Given the description of an element on the screen output the (x, y) to click on. 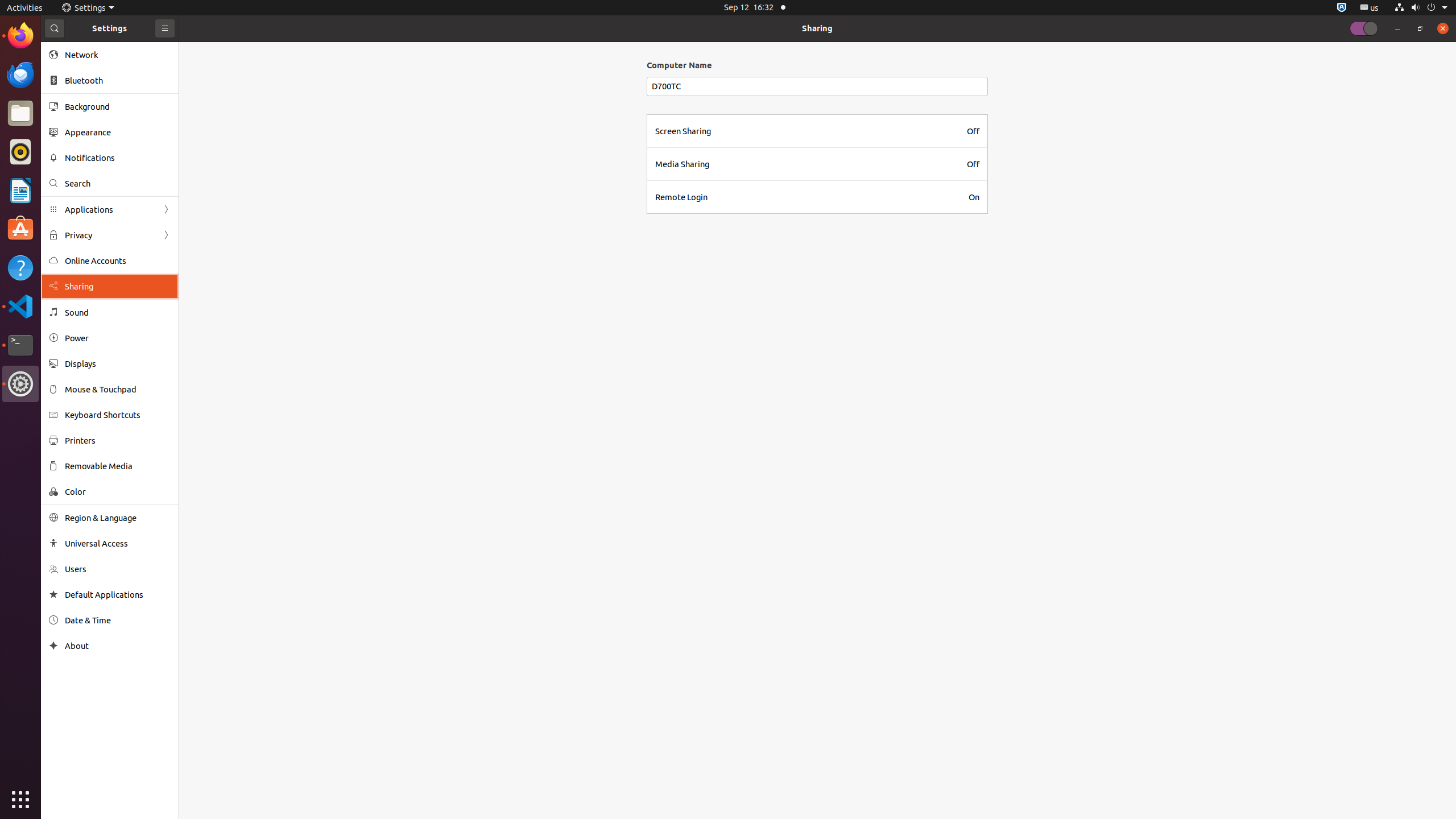
Forward Element type: icon (165, 235)
Mouse & Touchpad Element type: label (117, 389)
